Given the description of an element on the screen output the (x, y) to click on. 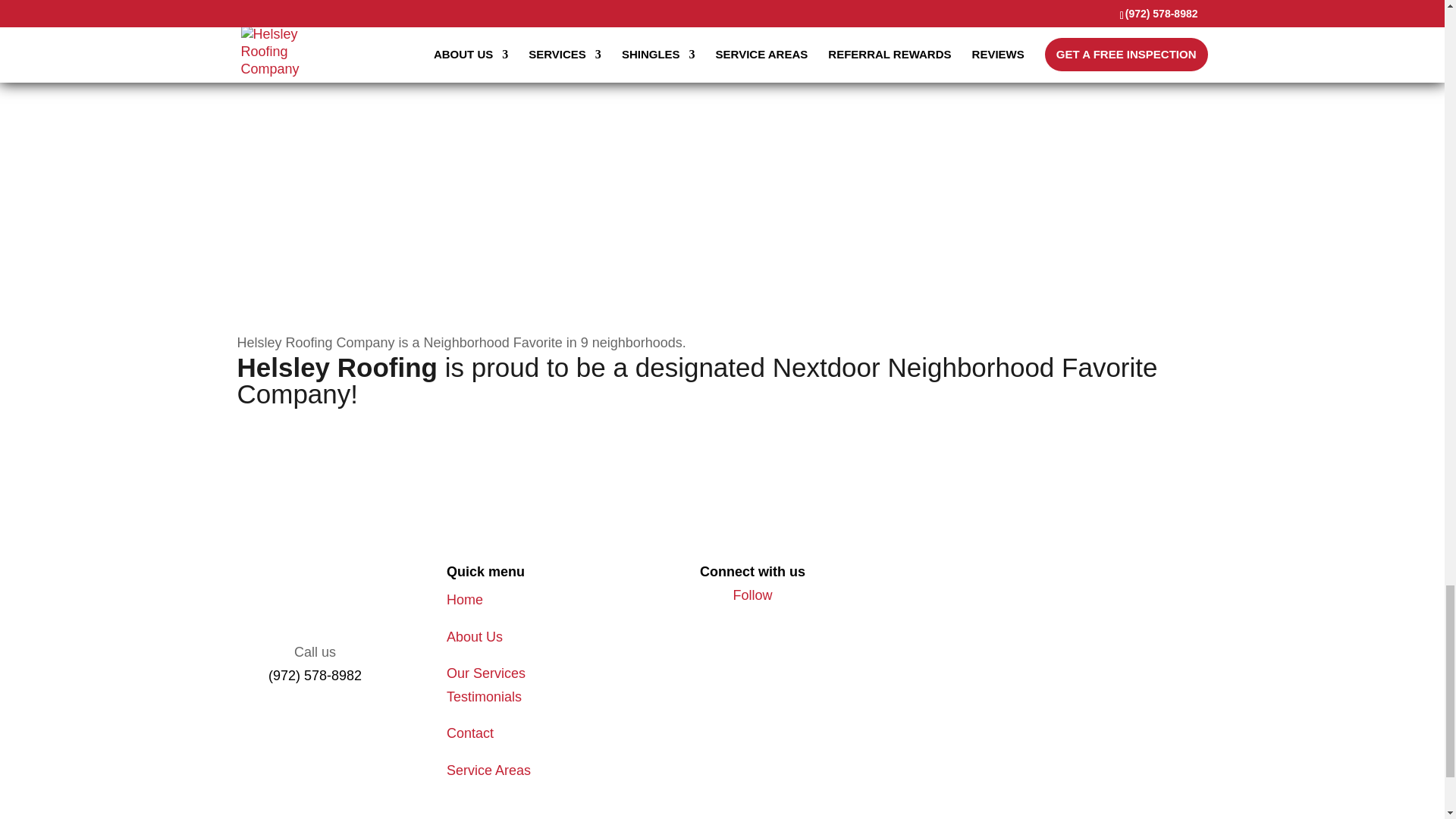
New-Logo (314, 600)
Follow on Facebook (753, 595)
nextdoor-2021-neighborhood-favorite (332, 234)
